Given the description of an element on the screen output the (x, y) to click on. 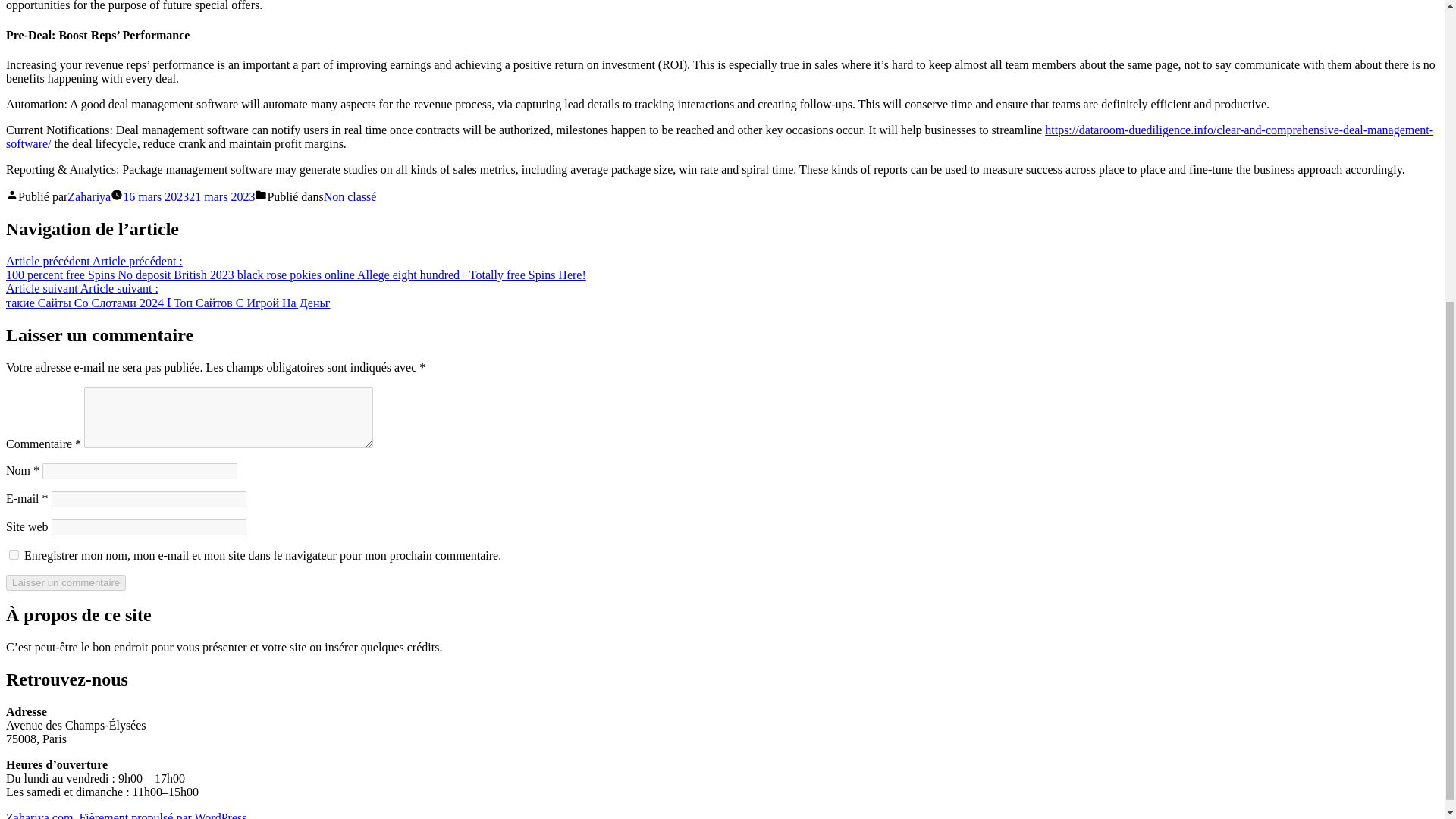
yes (13, 554)
16 mars 202321 mars 2023 (188, 196)
Zahariya (88, 196)
Laisser un commentaire (65, 581)
Laisser un commentaire (65, 581)
